Given the description of an element on the screen output the (x, y) to click on. 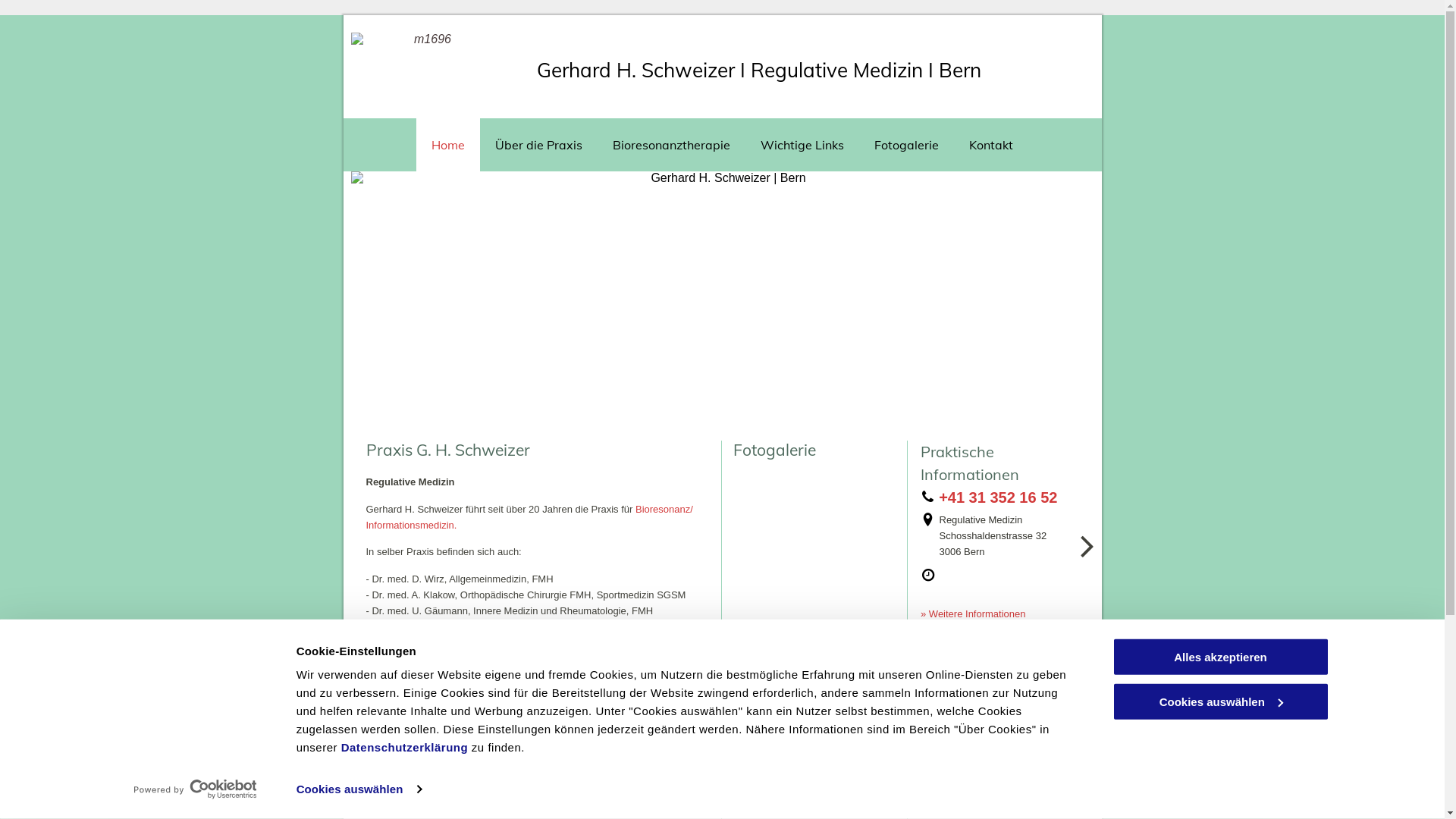
Gerhard H. Schweizer I Regulative Medizin I Bern Element type: text (758, 69)
+41 31 352 16 52 Element type: text (995, 493)
Wichtige Links Element type: text (802, 144)
Regulative Medizin Schosshaldenstrasse 32 3006 Bern Element type: text (991, 520)
Alles akzeptieren Element type: text (1219, 656)
Home Element type: text (448, 144)
Bioresonanz/ Informationsmedizin. Element type: text (528, 516)
Kontakt Element type: text (990, 144)
Fotogalerie Element type: text (906, 144)
